Given the description of an element on the screen output the (x, y) to click on. 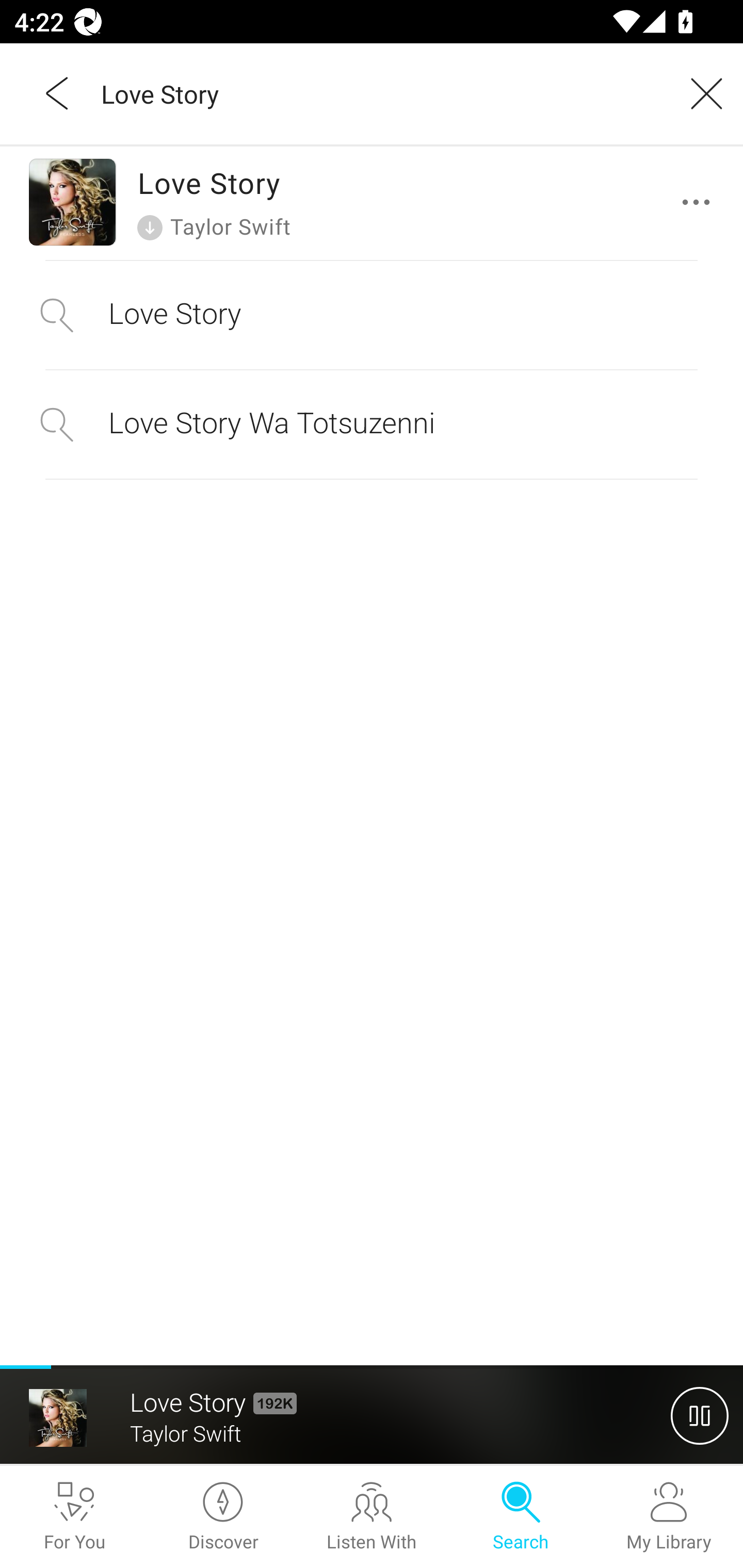
Love Story (378, 92)
Clear query (699, 92)
Back,outside of the list (57, 93)
更多操作選項 (699, 202)
Love Story (371, 315)
Love Story Wa Totsuzenni (371, 424)
暫停播放 (699, 1415)
For You (74, 1517)
Discover (222, 1517)
Listen With (371, 1517)
Search (519, 1517)
My Library (668, 1517)
